Given the description of an element on the screen output the (x, y) to click on. 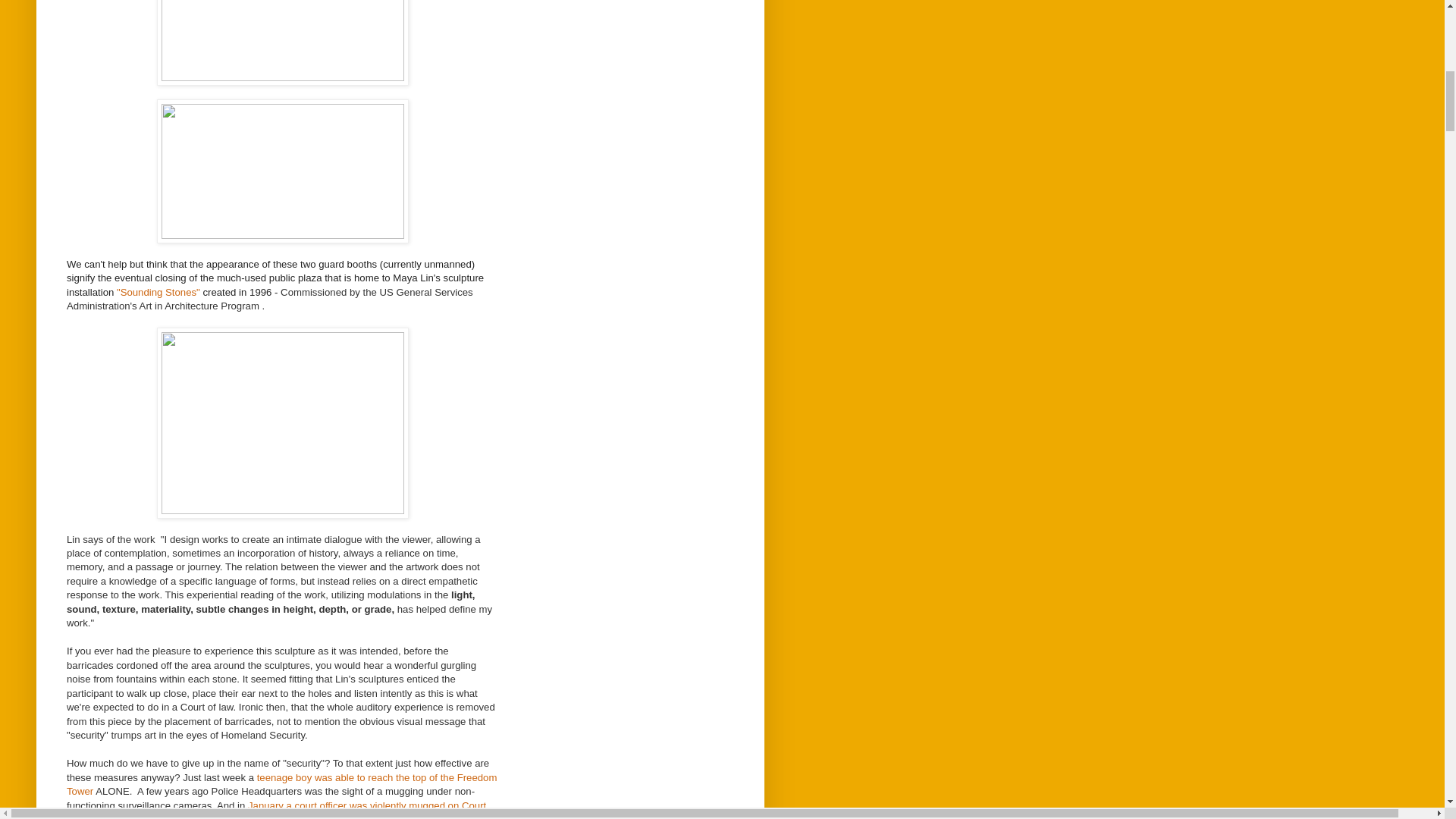
"Sounding Stones" (157, 292)
teenage boy was able to reach the top of the Freedom Tower (281, 784)
